Given the description of an element on the screen output the (x, y) to click on. 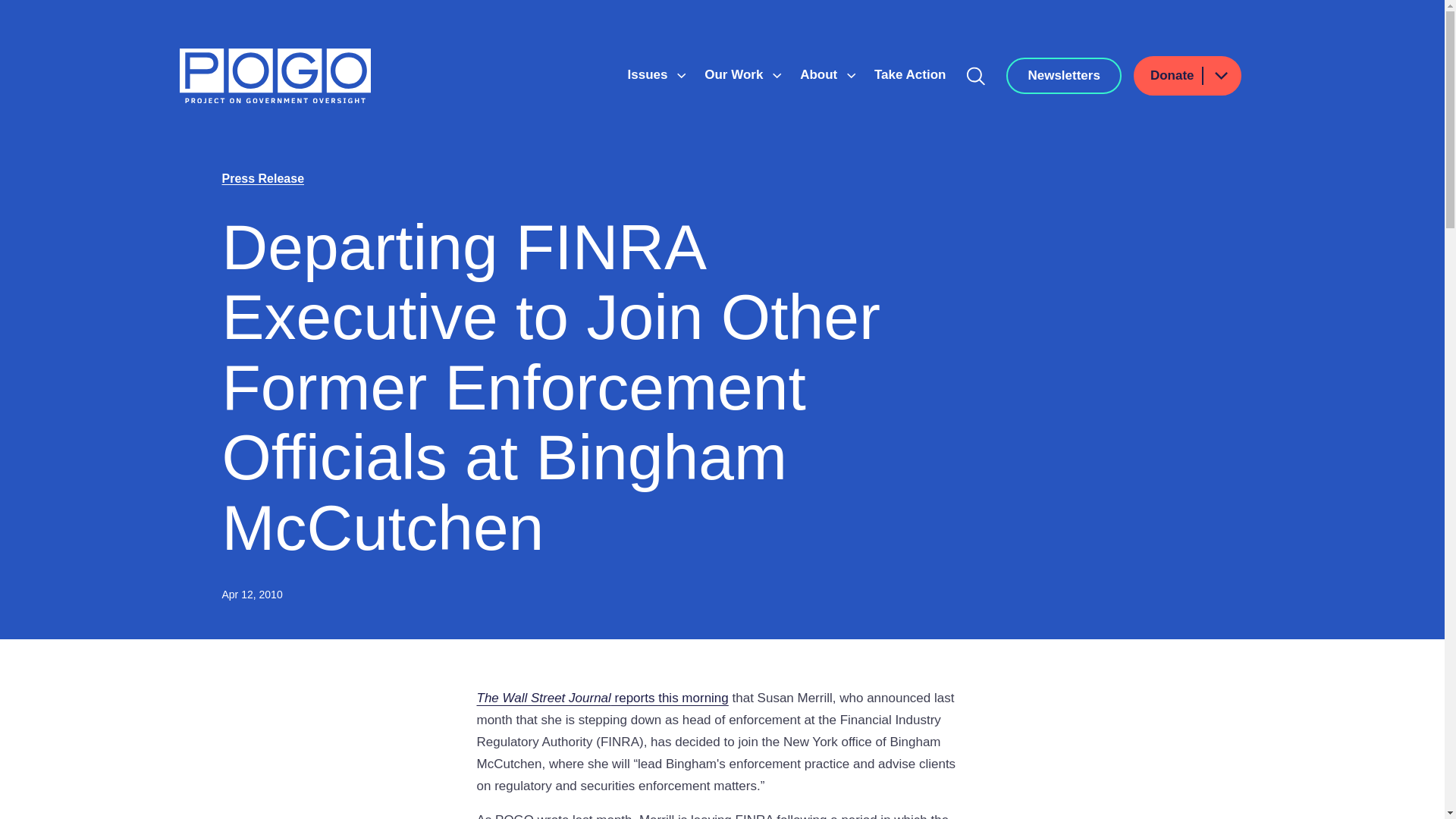
Issues (649, 74)
Show submenu for Donate (1220, 75)
Show submenu for Issues (681, 75)
Show submenu for About (851, 75)
Search (976, 75)
Donate (1187, 75)
Newsletters (1063, 75)
Show submenu for Our Work (777, 75)
Take Action (909, 74)
Home (274, 75)
Our Work (735, 74)
About (820, 74)
